Given the description of an element on the screen output the (x, y) to click on. 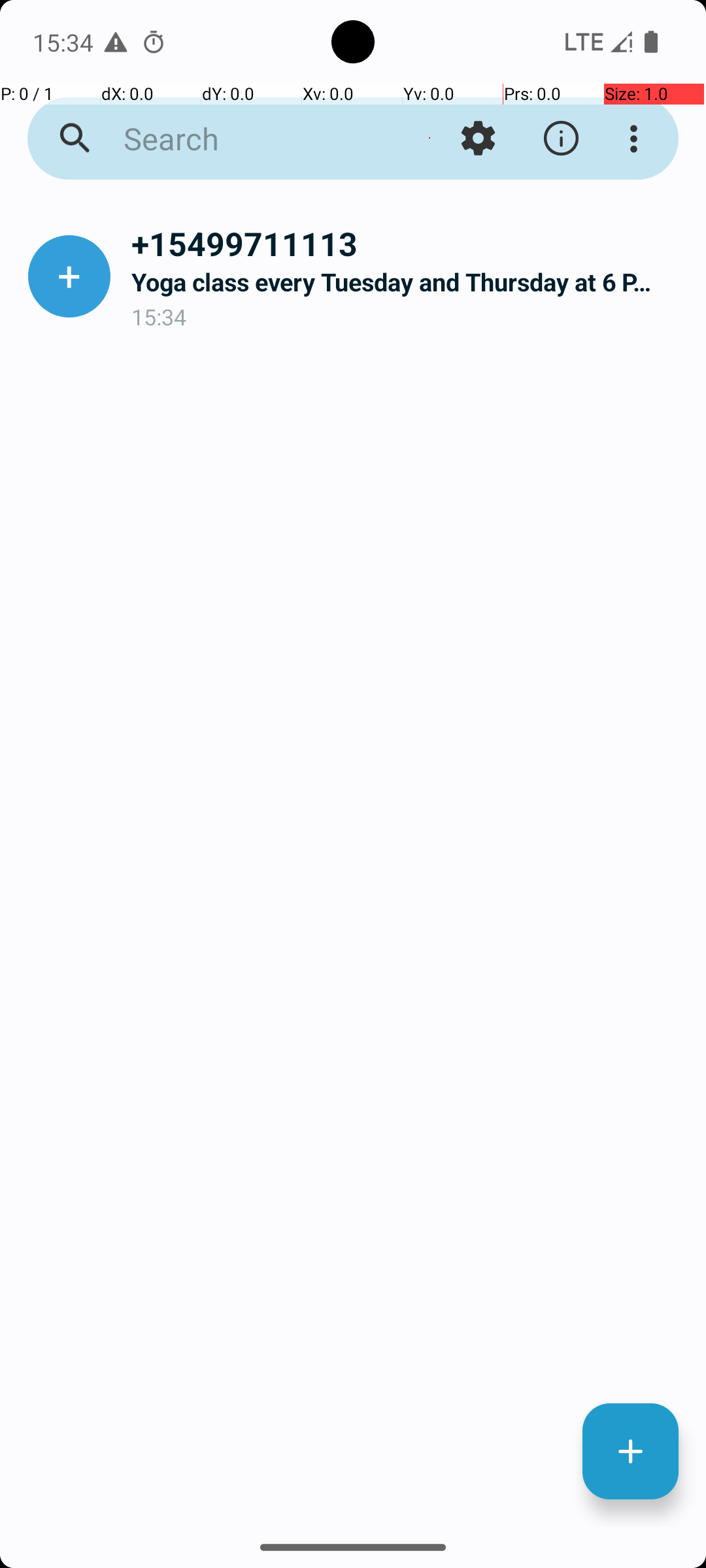
+15499711113 Element type: android.widget.TextView (408, 242)
Yoga class every Tuesday and Thursday at 6 PM. Element type: android.widget.TextView (408, 281)
